Given the description of an element on the screen output the (x, y) to click on. 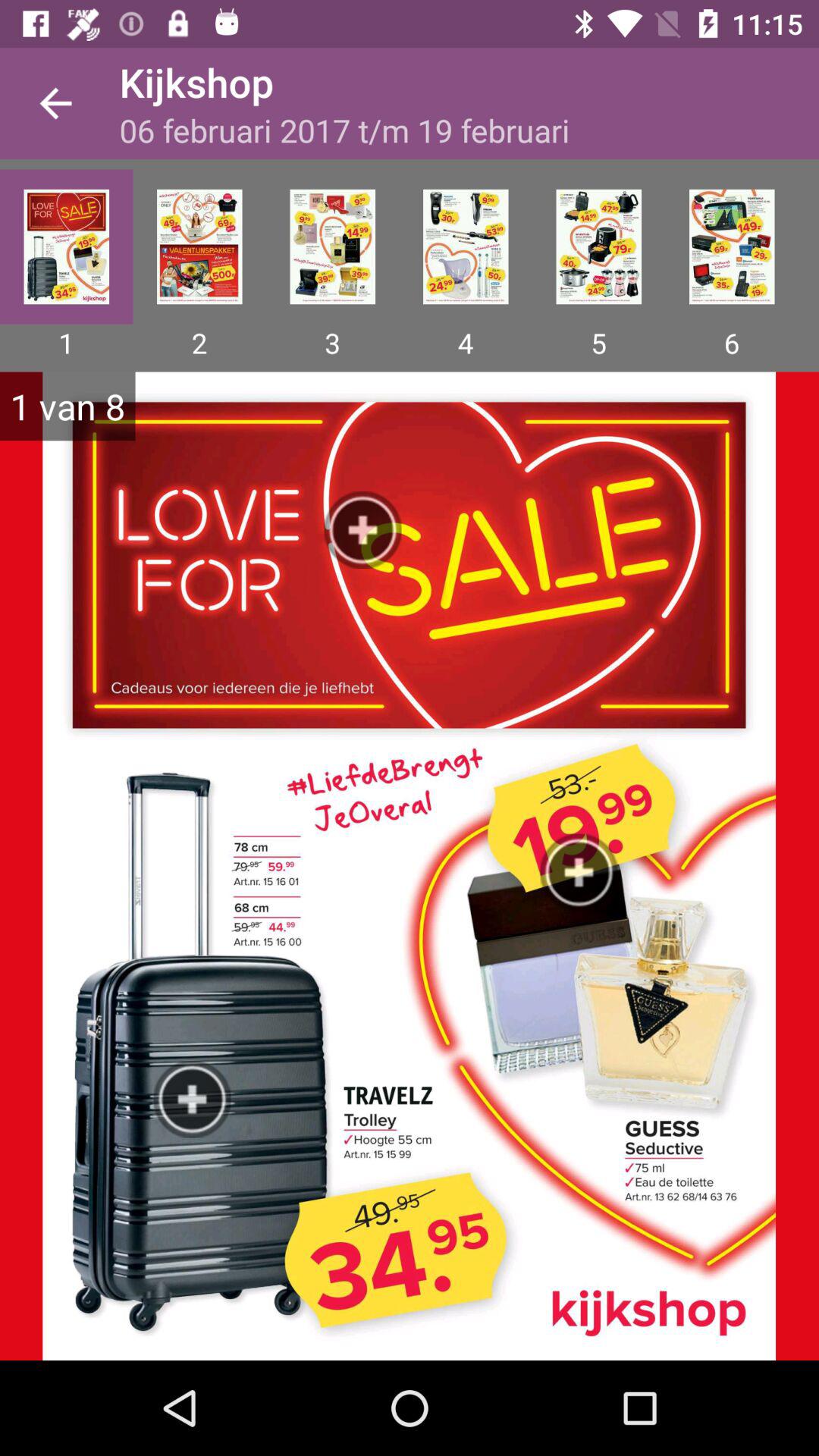
options 4 (465, 246)
